Given the description of an element on the screen output the (x, y) to click on. 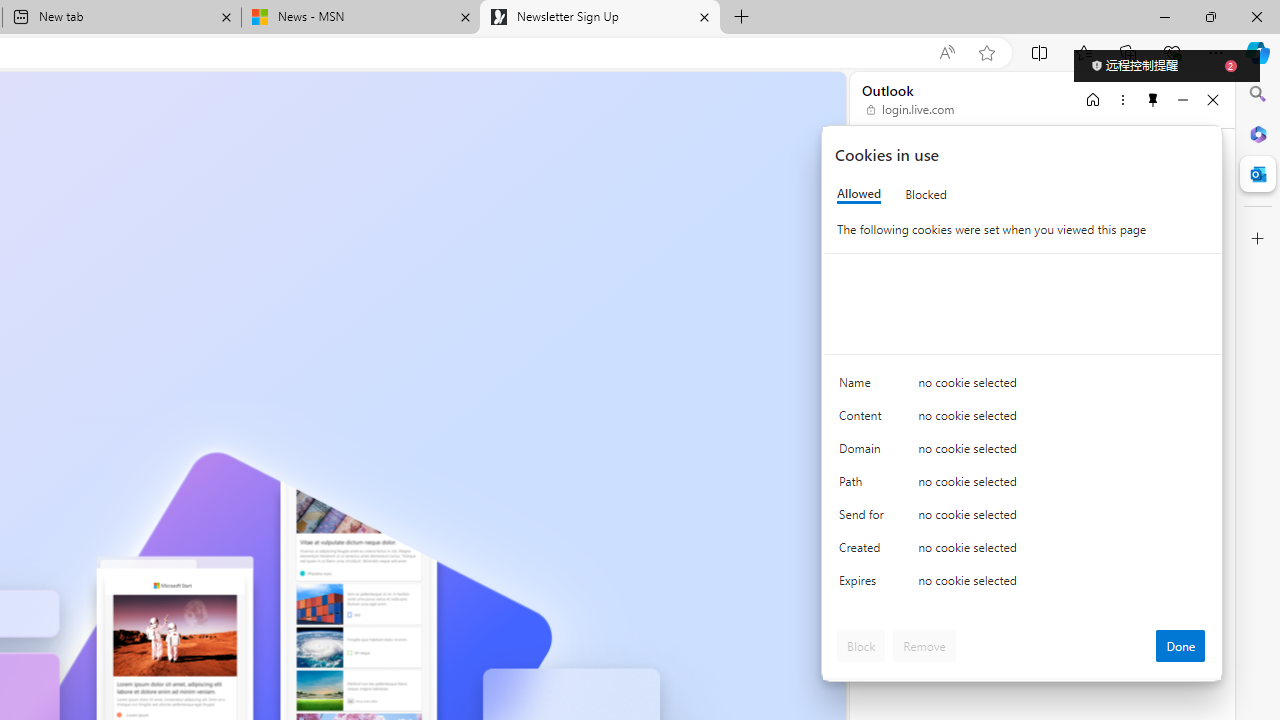
no cookie selected (1062, 585)
Block (861, 645)
Domain (864, 452)
Remove (924, 645)
Microsoft (927, 164)
News - MSN (360, 17)
